Given the description of an element on the screen output the (x, y) to click on. 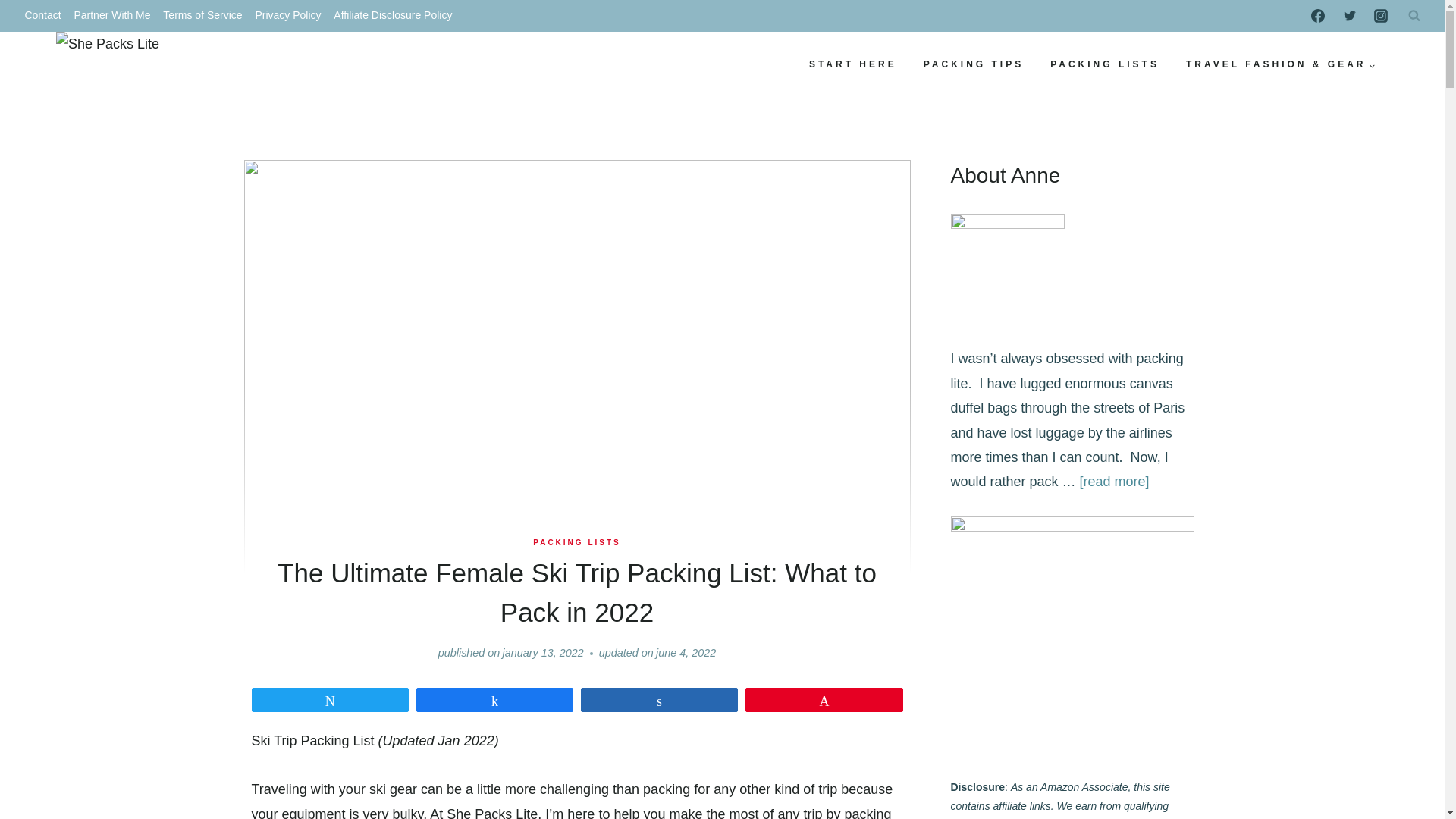
Partner With Me (111, 15)
About Anne (1007, 268)
Privacy Policy (287, 15)
Affiliate Disclosure Policy (392, 15)
Contact (41, 15)
PACKING TIPS (973, 65)
START HERE (852, 65)
Terms of Service (202, 15)
PACKING LISTS (1104, 65)
PACKING LISTS (576, 542)
